Given the description of an element on the screen output the (x, y) to click on. 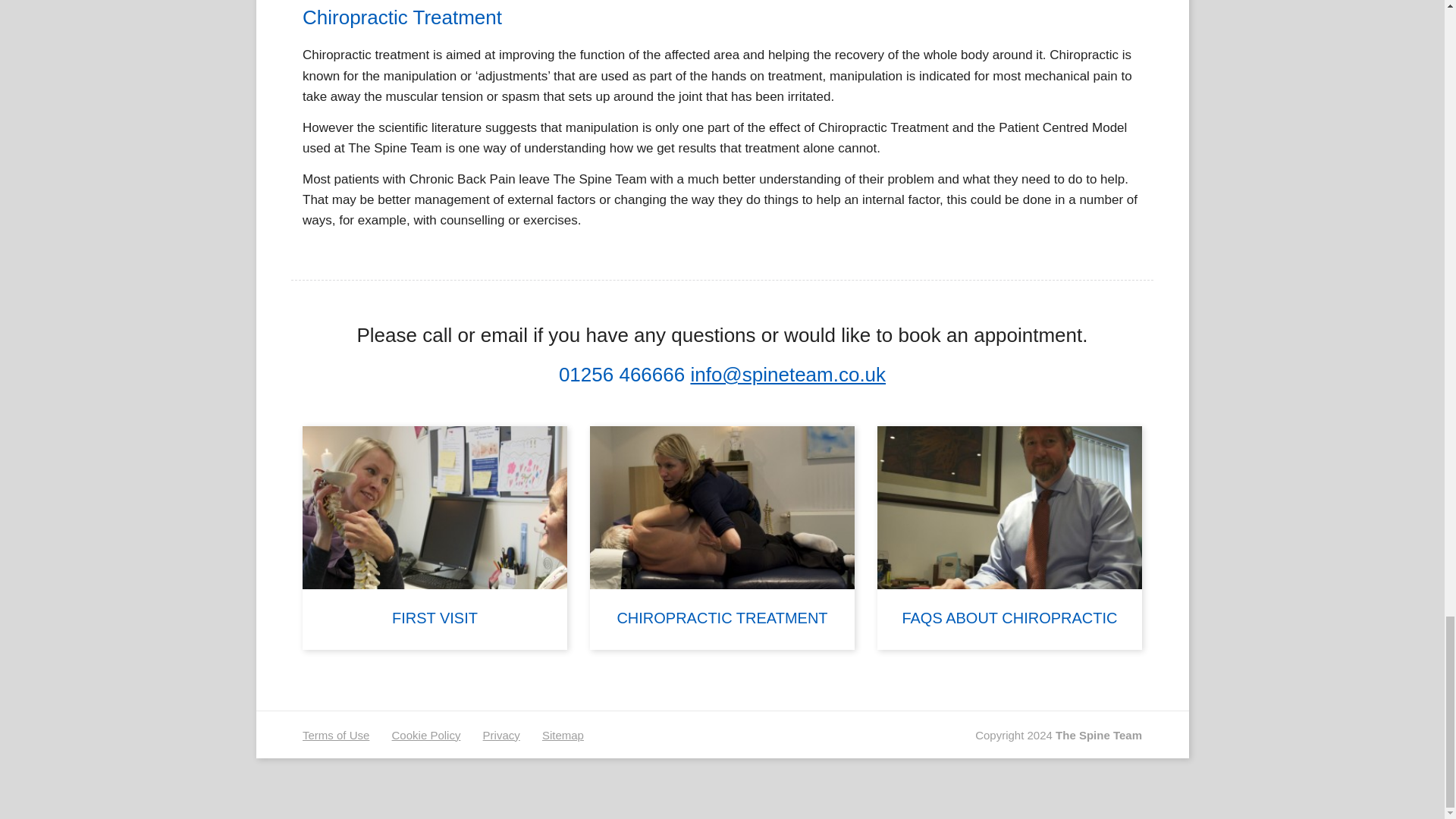
Cookie Policy (426, 735)
Privacy (501, 735)
FIRST VISIT (434, 537)
Sitemap (562, 735)
FAQS ABOUT CHIROPRACTIC (1009, 537)
Terms of Use (335, 735)
CHIROPRACTIC TREATMENT (721, 537)
